Given the description of an element on the screen output the (x, y) to click on. 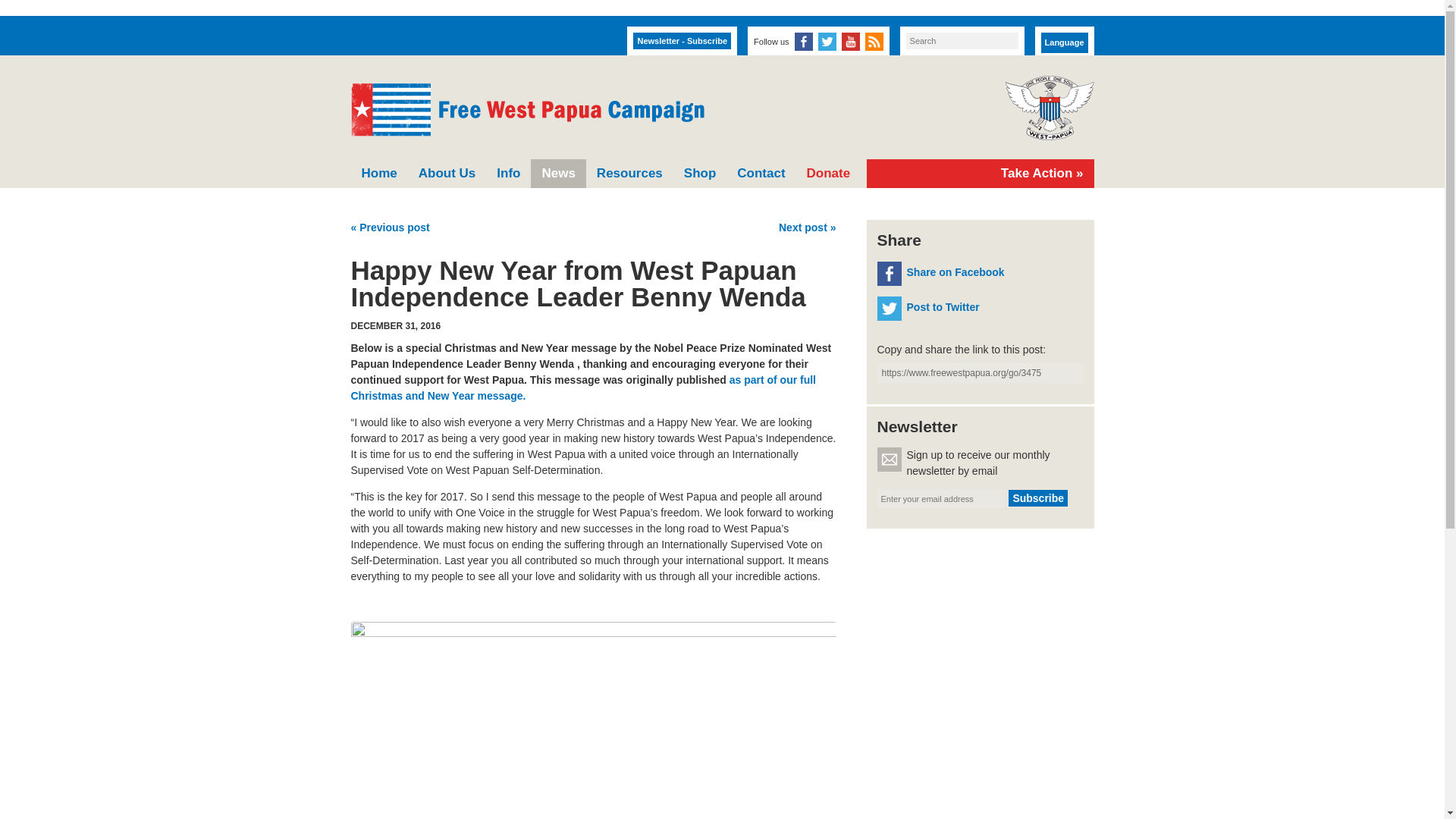
Newsletter - Subscribe (681, 40)
Free West Papua Campaign Facebook page (803, 41)
News (558, 173)
Free West Papua Campaign on Twitter (826, 41)
About Us (446, 173)
Subscribe (1038, 497)
Resources (629, 173)
Free West Papua Campaign Facebook page (803, 41)
Newsletter - Subscribe (681, 40)
Free West Papua Campaign homepage (526, 110)
Shop (699, 173)
Share on Facebook (979, 273)
Free West Papua Campaign (526, 110)
Free West Papua Campaign news RSS feed (873, 41)
